Given the description of an element on the screen output the (x, y) to click on. 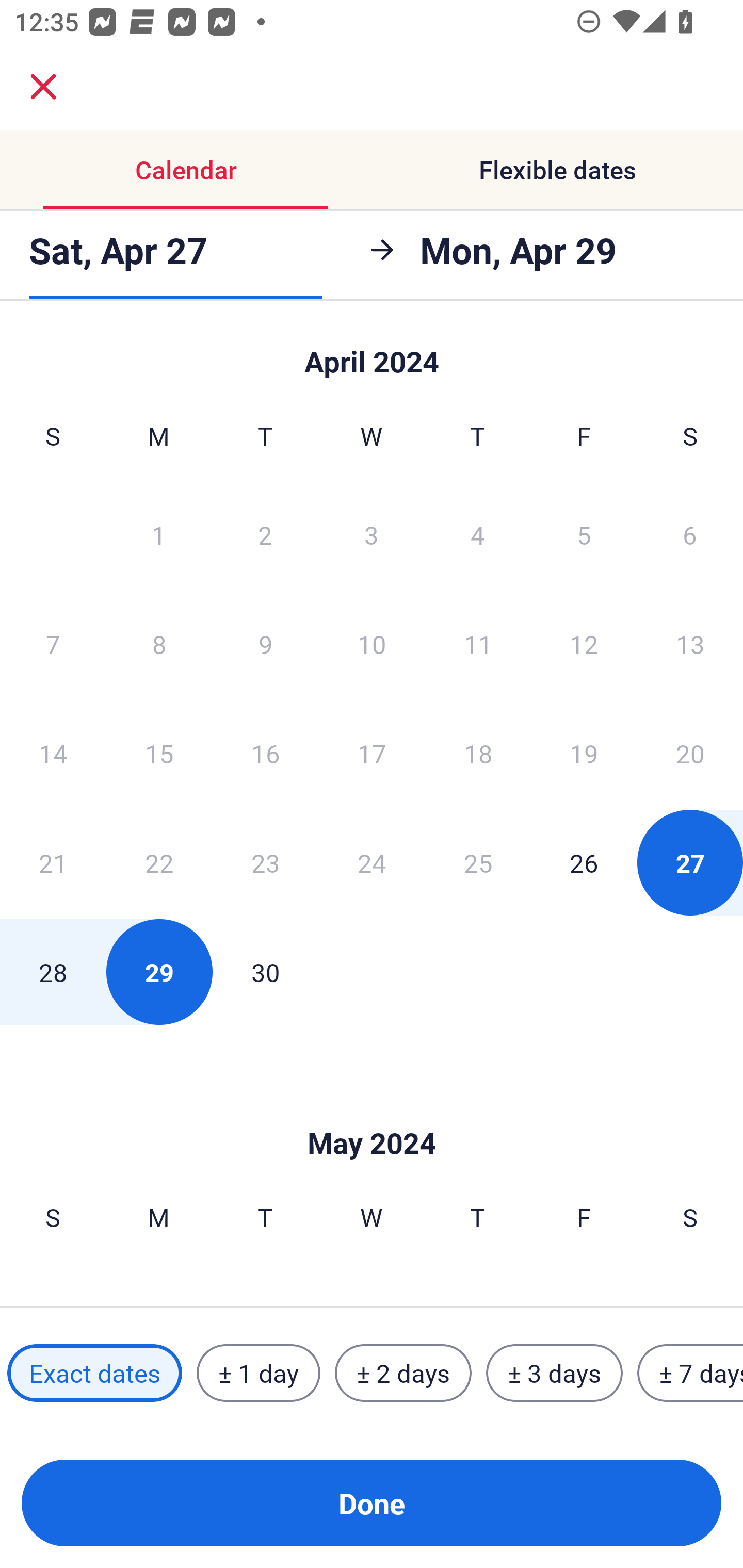
close. (43, 86)
Flexible dates (557, 170)
Skip to Done (371, 352)
1 Monday, April 1, 2024 (158, 534)
2 Tuesday, April 2, 2024 (264, 534)
3 Wednesday, April 3, 2024 (371, 534)
4 Thursday, April 4, 2024 (477, 534)
5 Friday, April 5, 2024 (583, 534)
6 Saturday, April 6, 2024 (689, 534)
7 Sunday, April 7, 2024 (53, 643)
8 Monday, April 8, 2024 (159, 643)
9 Tuesday, April 9, 2024 (265, 643)
10 Wednesday, April 10, 2024 (371, 643)
11 Thursday, April 11, 2024 (477, 643)
12 Friday, April 12, 2024 (584, 643)
13 Saturday, April 13, 2024 (690, 643)
14 Sunday, April 14, 2024 (53, 752)
15 Monday, April 15, 2024 (159, 752)
16 Tuesday, April 16, 2024 (265, 752)
17 Wednesday, April 17, 2024 (371, 752)
18 Thursday, April 18, 2024 (477, 752)
19 Friday, April 19, 2024 (584, 752)
20 Saturday, April 20, 2024 (690, 752)
21 Sunday, April 21, 2024 (53, 862)
22 Monday, April 22, 2024 (159, 862)
23 Tuesday, April 23, 2024 (265, 862)
24 Wednesday, April 24, 2024 (371, 862)
25 Thursday, April 25, 2024 (477, 862)
26 Friday, April 26, 2024 (584, 862)
30 Tuesday, April 30, 2024 (265, 971)
Skip to Done (371, 1112)
Exact dates (94, 1372)
± 1 day (258, 1372)
± 2 days (403, 1372)
± 3 days (553, 1372)
± 7 days (690, 1372)
Done (371, 1502)
